Given the description of an element on the screen output the (x, y) to click on. 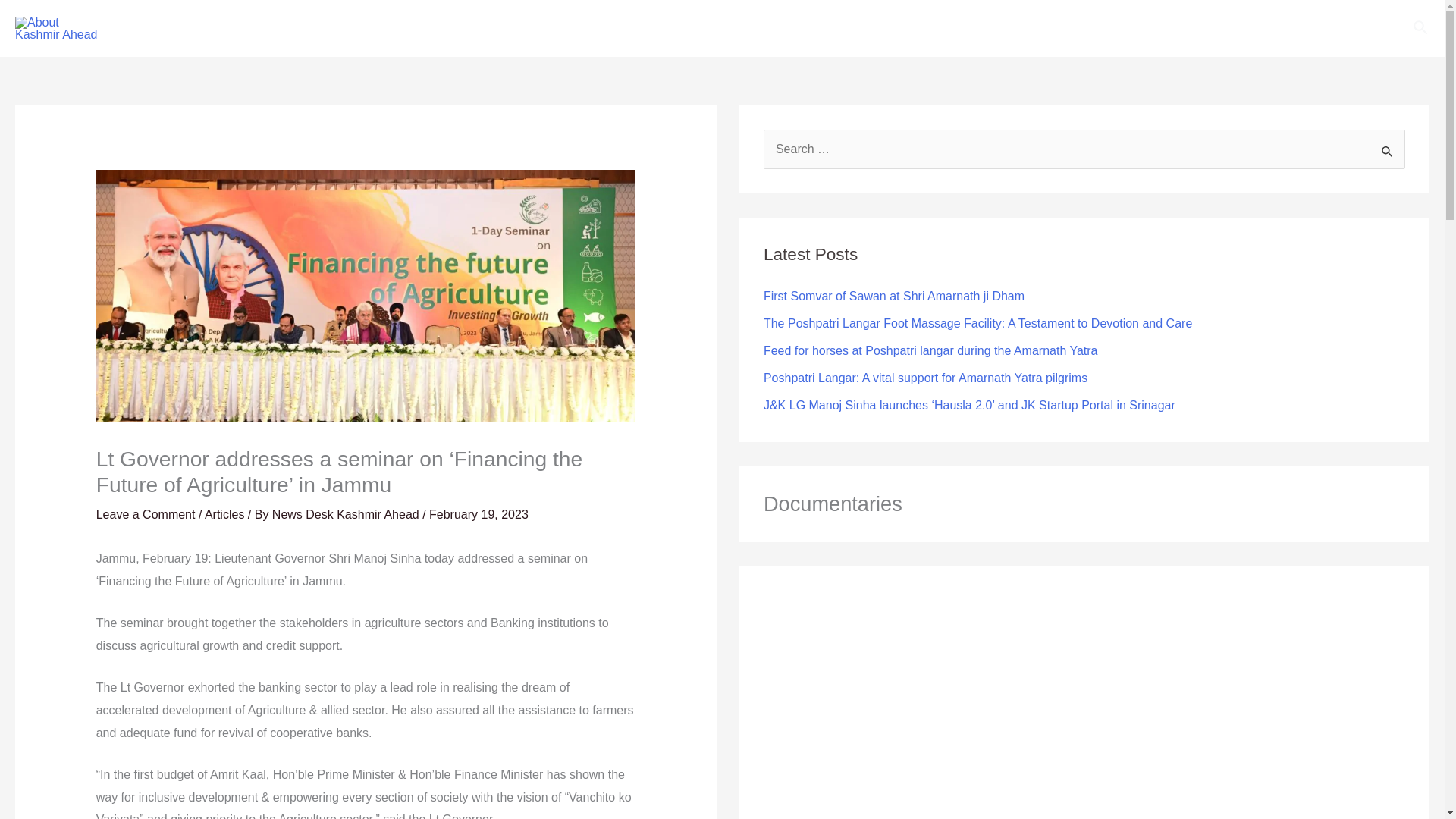
Search (1388, 150)
Articles (224, 513)
News Desk Kashmir Ahead (347, 513)
View all posts by News Desk Kashmir Ahead (347, 513)
Videos (291, 28)
Articles (362, 28)
About (421, 28)
Leave a Comment (145, 513)
Search (1388, 150)
Search (1421, 28)
News (220, 28)
Home (160, 28)
Contact (482, 28)
